Given the description of an element on the screen output the (x, y) to click on. 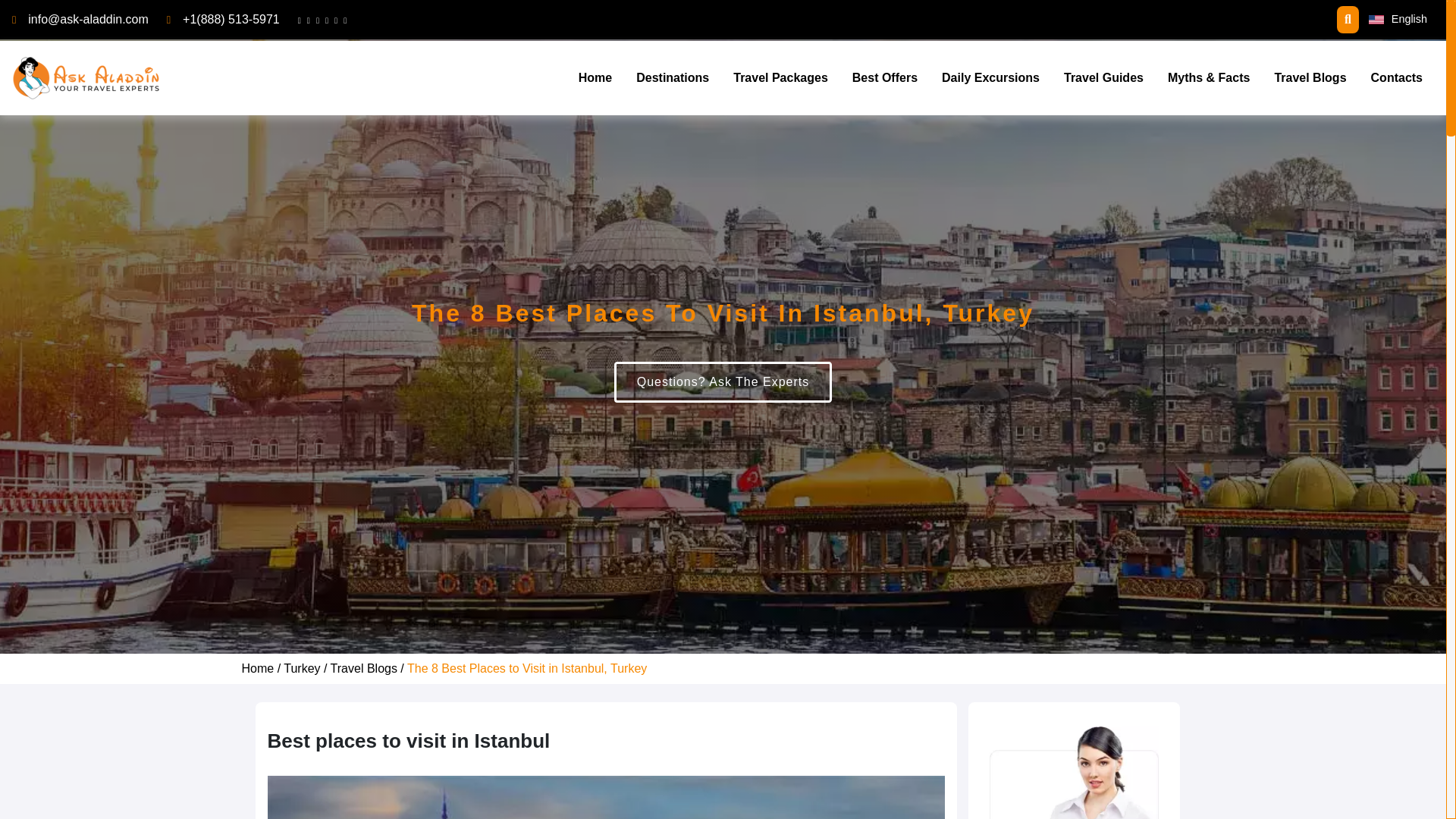
Home (594, 78)
en (1376, 19)
Destinations (672, 78)
ask-aladdin (87, 78)
Travel Packages (780, 78)
mail (87, 19)
phone (231, 19)
